Given the description of an element on the screen output the (x, y) to click on. 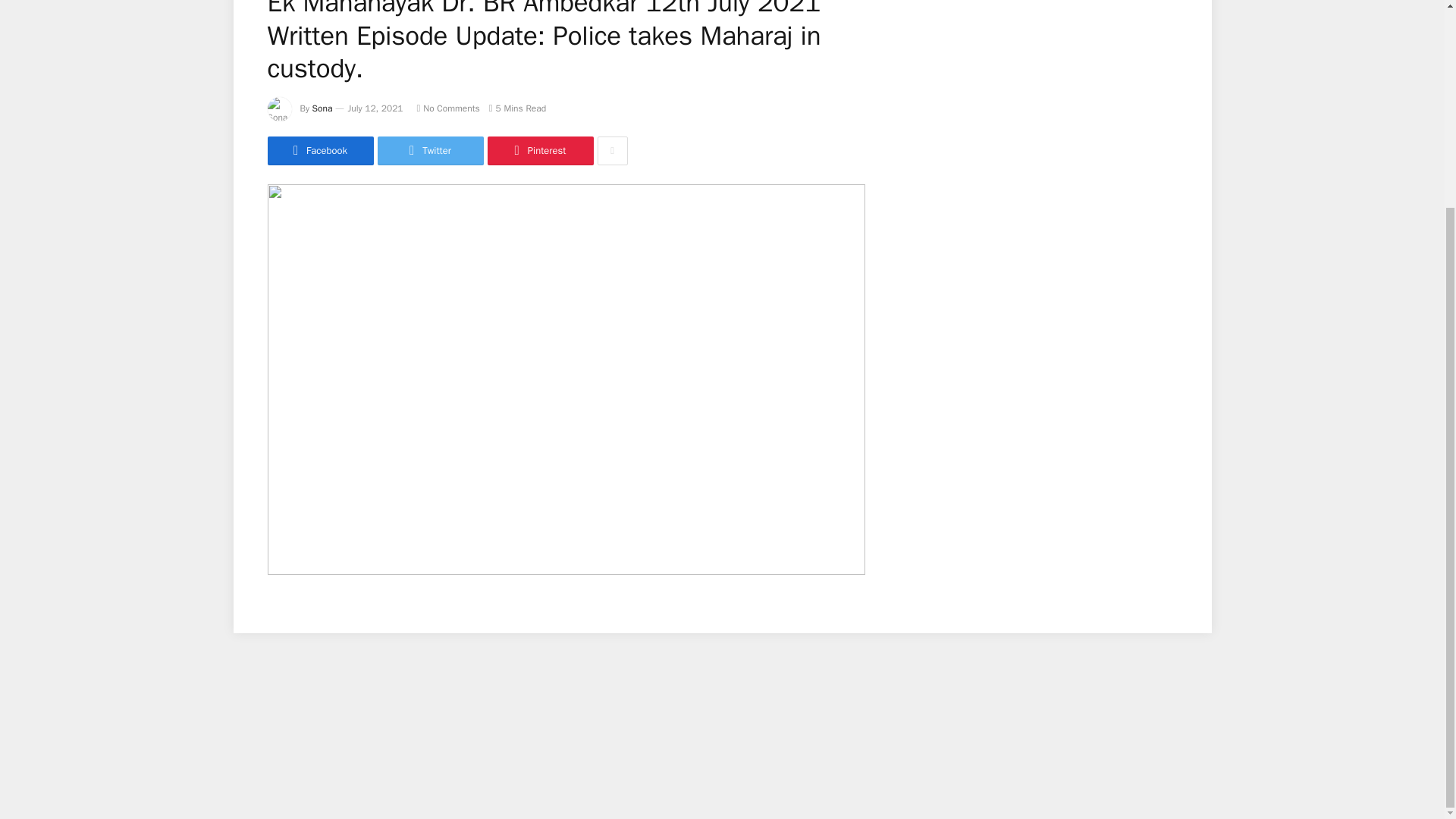
Posts by Sona (323, 108)
Share on Facebook (319, 150)
Share on Pinterest (539, 150)
